Given the description of an element on the screen output the (x, y) to click on. 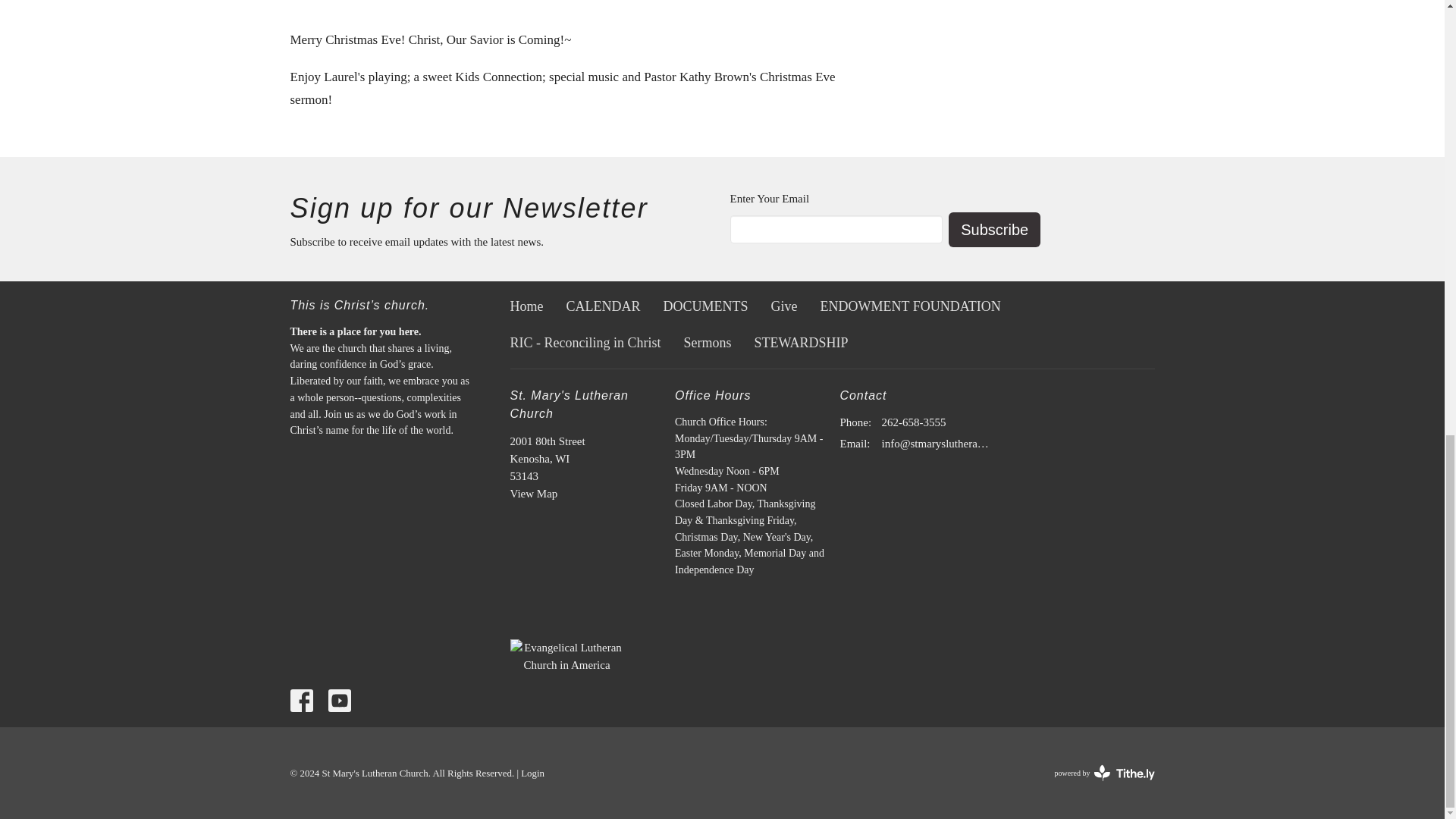
Home (526, 306)
translation missing: en.ui.email (853, 443)
DOCUMENTS (705, 306)
RIC - Reconciling in Christ (585, 342)
262-658-3555 (912, 422)
STEWARDSHIP (800, 342)
View Map (533, 493)
Login (532, 773)
ENDOWMENT FOUNDATION (911, 306)
